Given the description of an element on the screen output the (x, y) to click on. 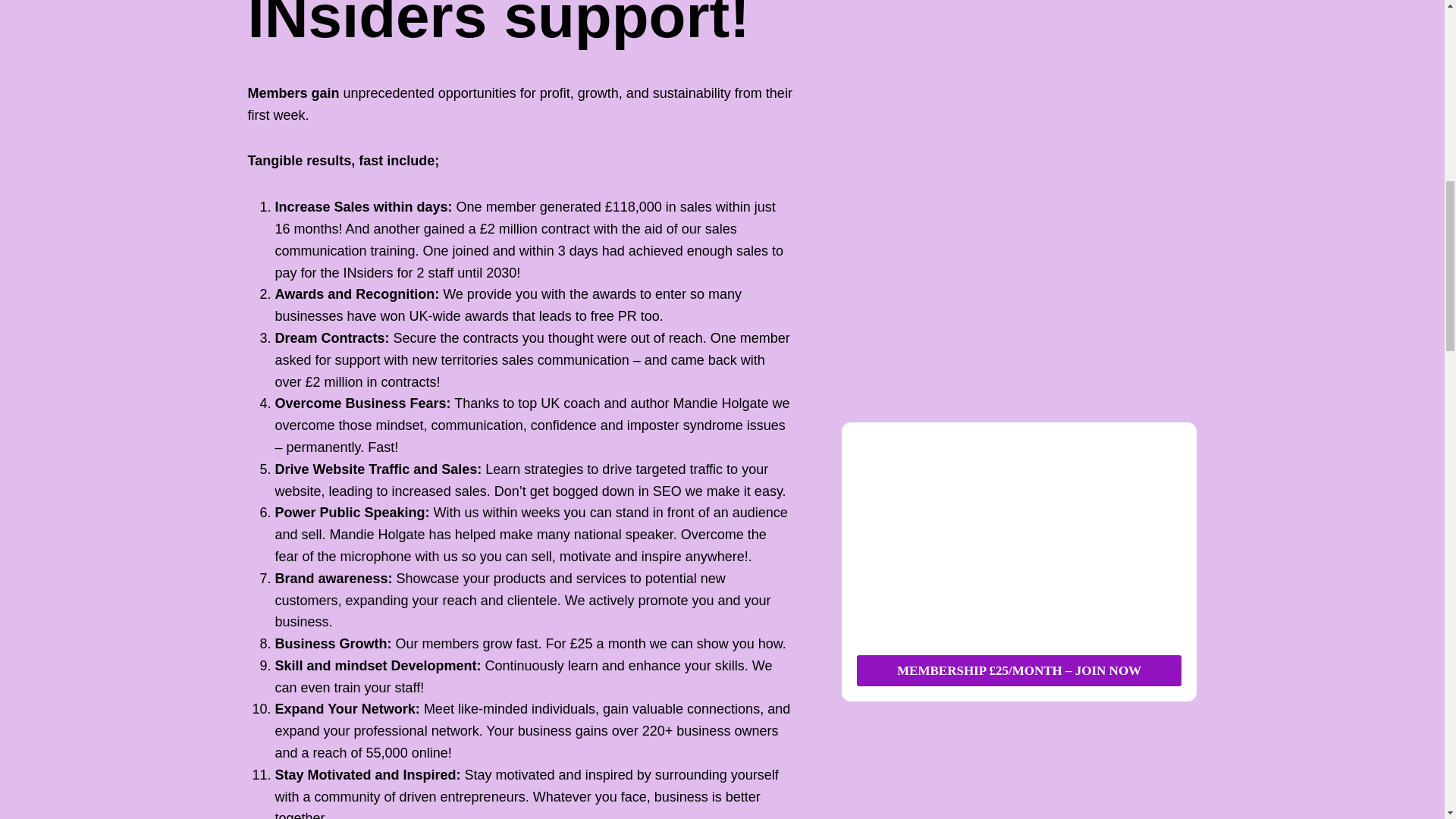
The Business Womans Network (1019, 538)
